Given the description of an element on the screen output the (x, y) to click on. 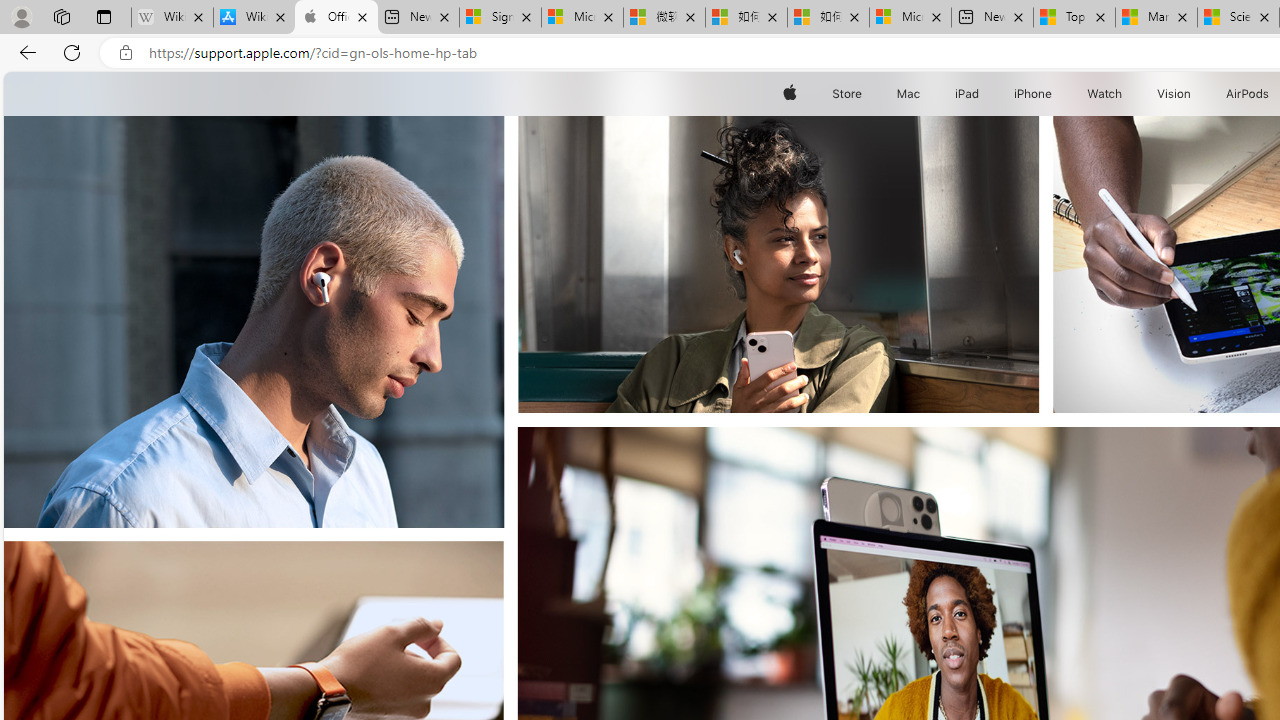
Apple (789, 93)
iPad (965, 93)
Apple (789, 93)
